Given the description of an element on the screen output the (x, y) to click on. 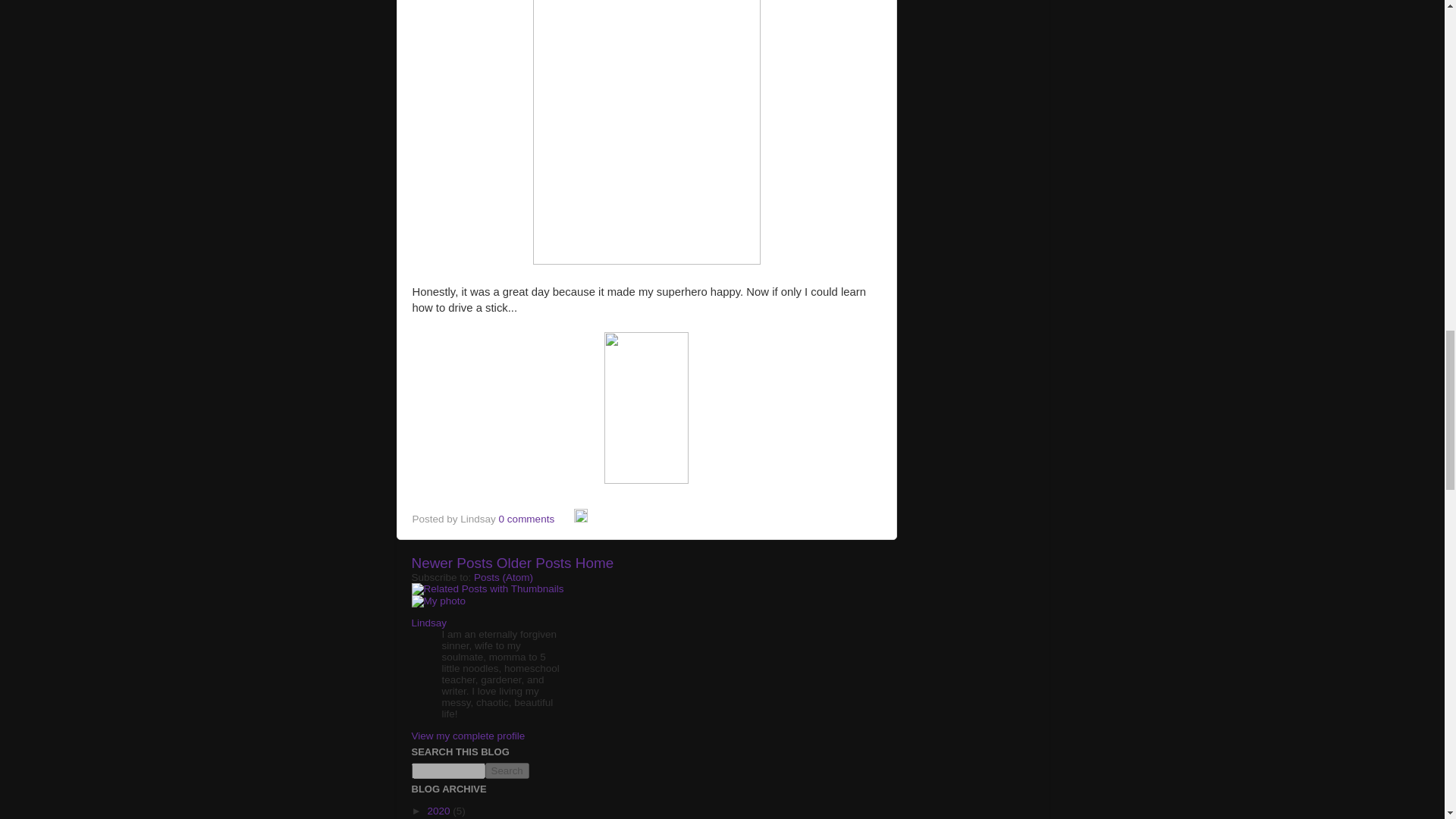
search (447, 770)
Newer Posts (451, 562)
Home (593, 562)
Search (506, 770)
Search (506, 770)
Email Post (565, 518)
2020 (439, 810)
search (506, 770)
0 comments (526, 518)
July (437, 817)
Newer Posts (451, 562)
Search (506, 770)
Lindsay (428, 622)
Edit Post (580, 518)
Older Posts (534, 562)
